Given the description of an element on the screen output the (x, y) to click on. 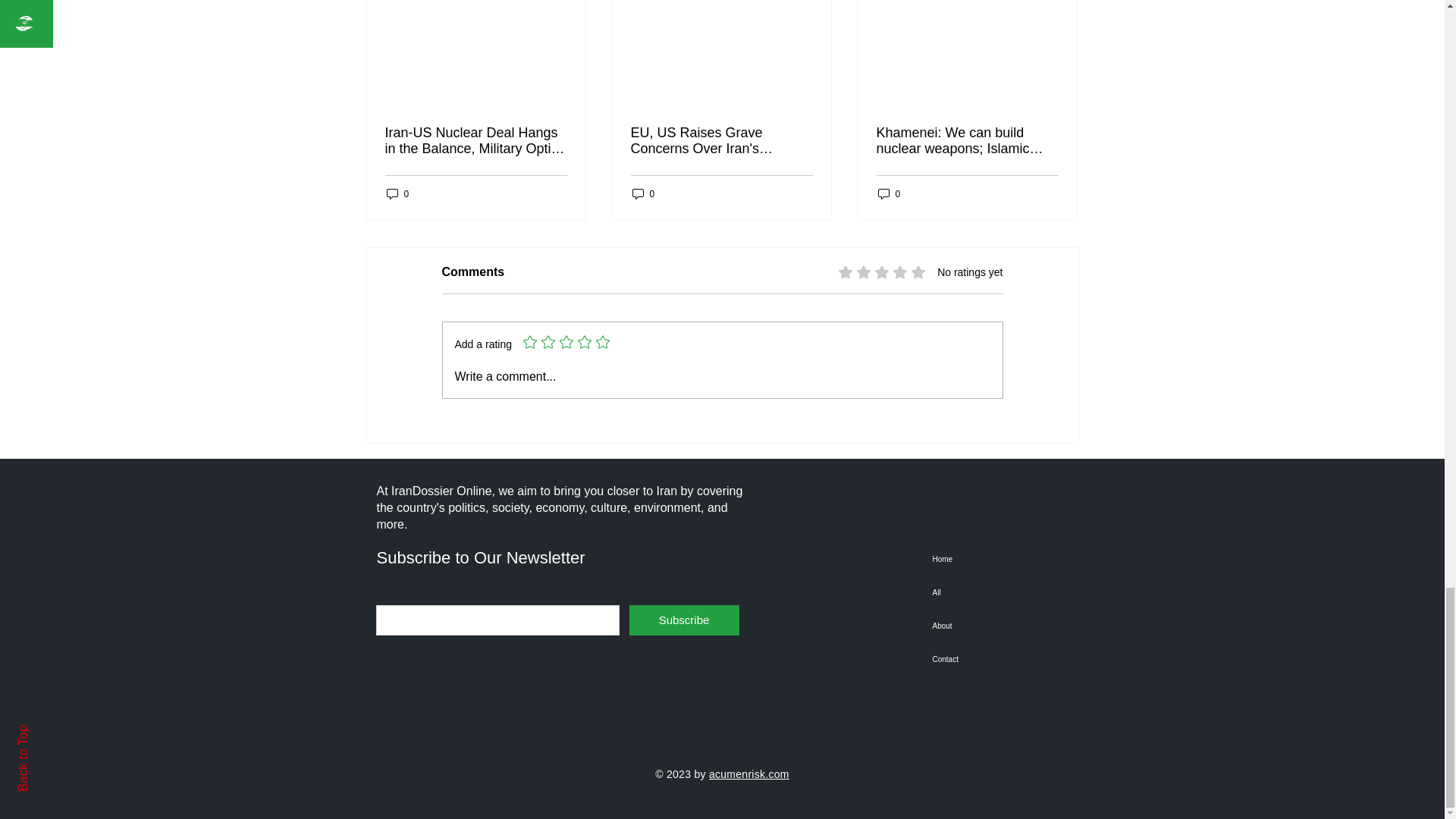
0 (397, 193)
